Given the description of an element on the screen output the (x, y) to click on. 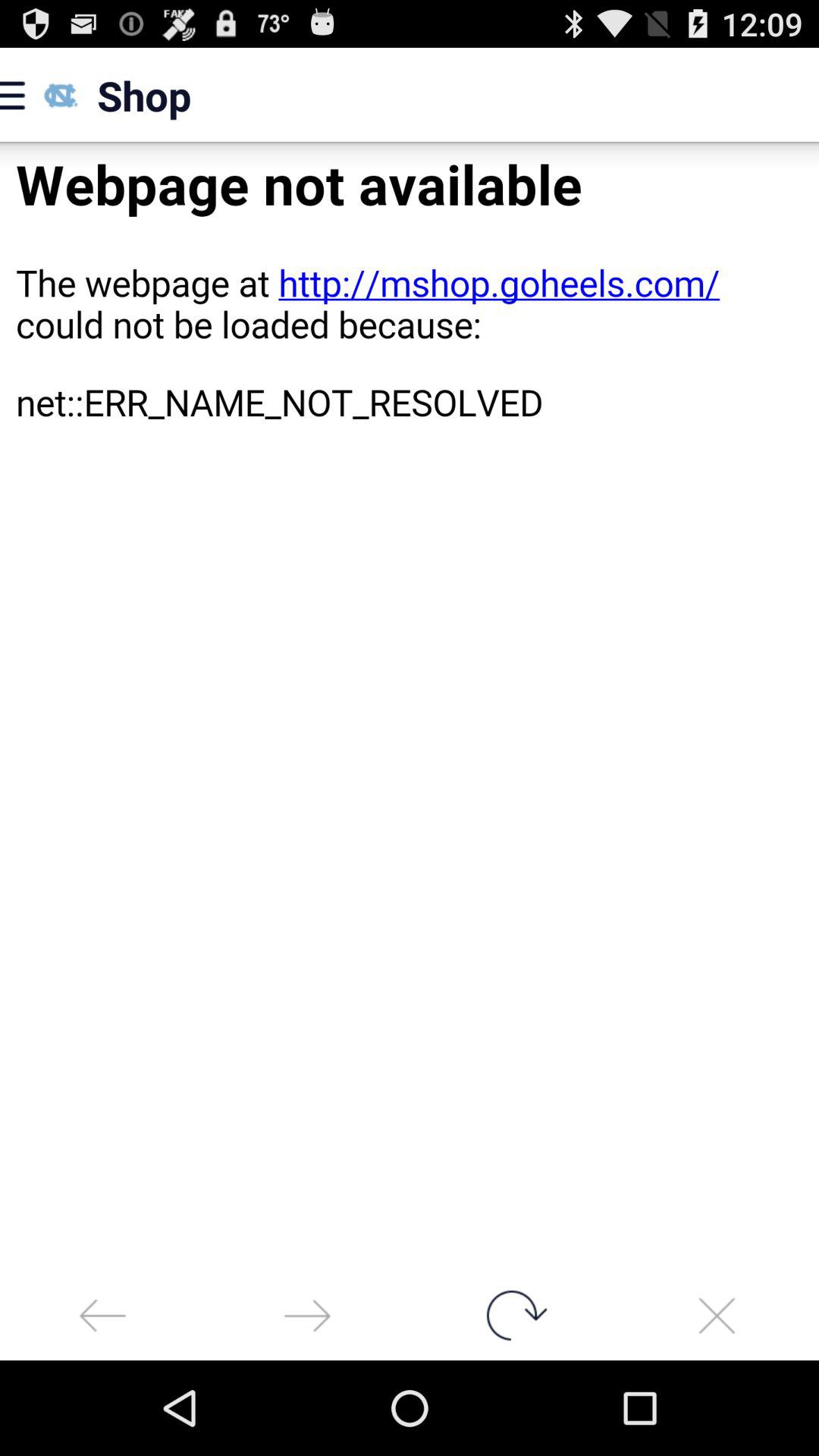
error page report (409, 706)
